Given the description of an element on the screen output the (x, y) to click on. 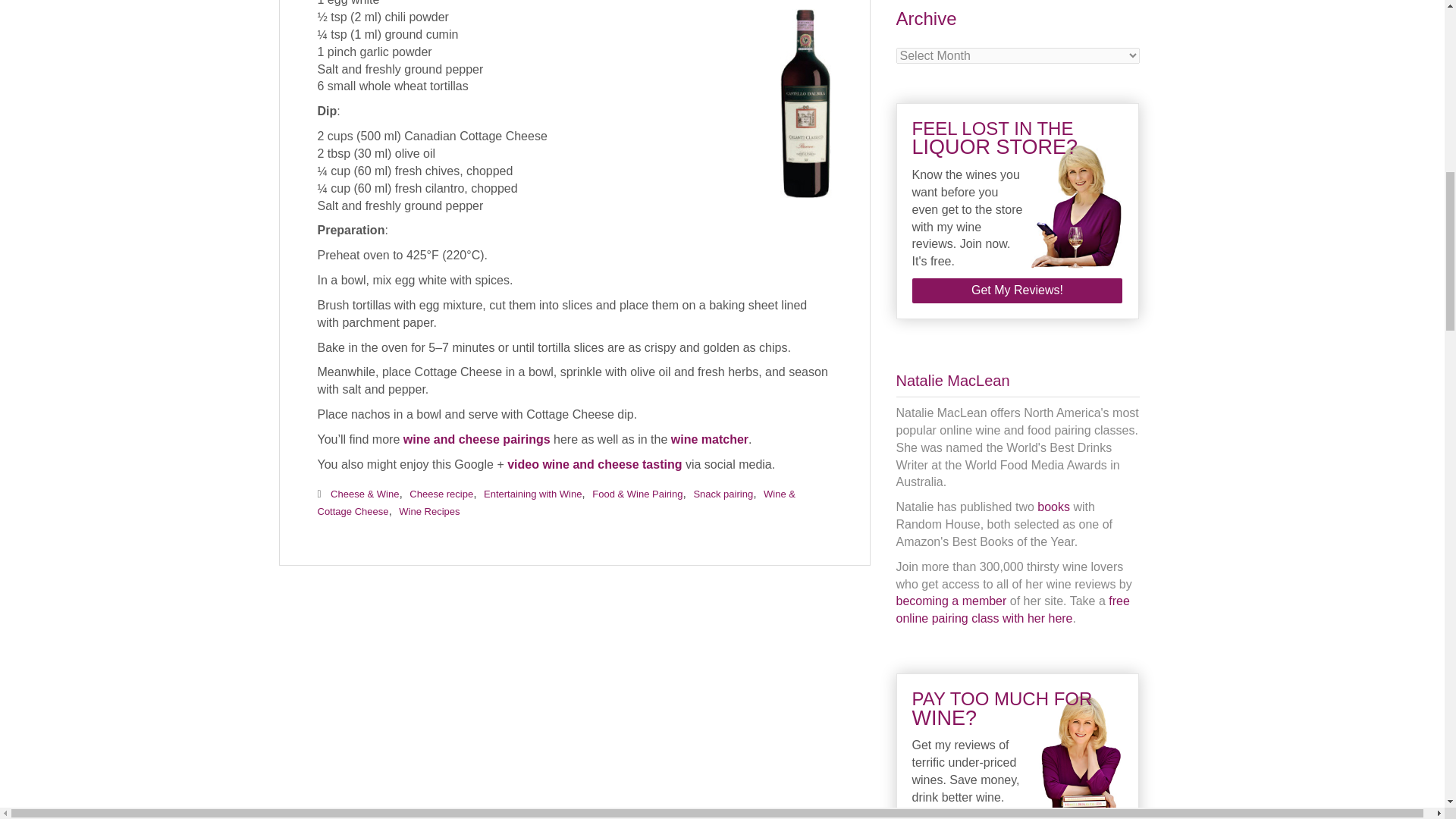
Become a member! (951, 600)
